Given the description of an element on the screen output the (x, y) to click on. 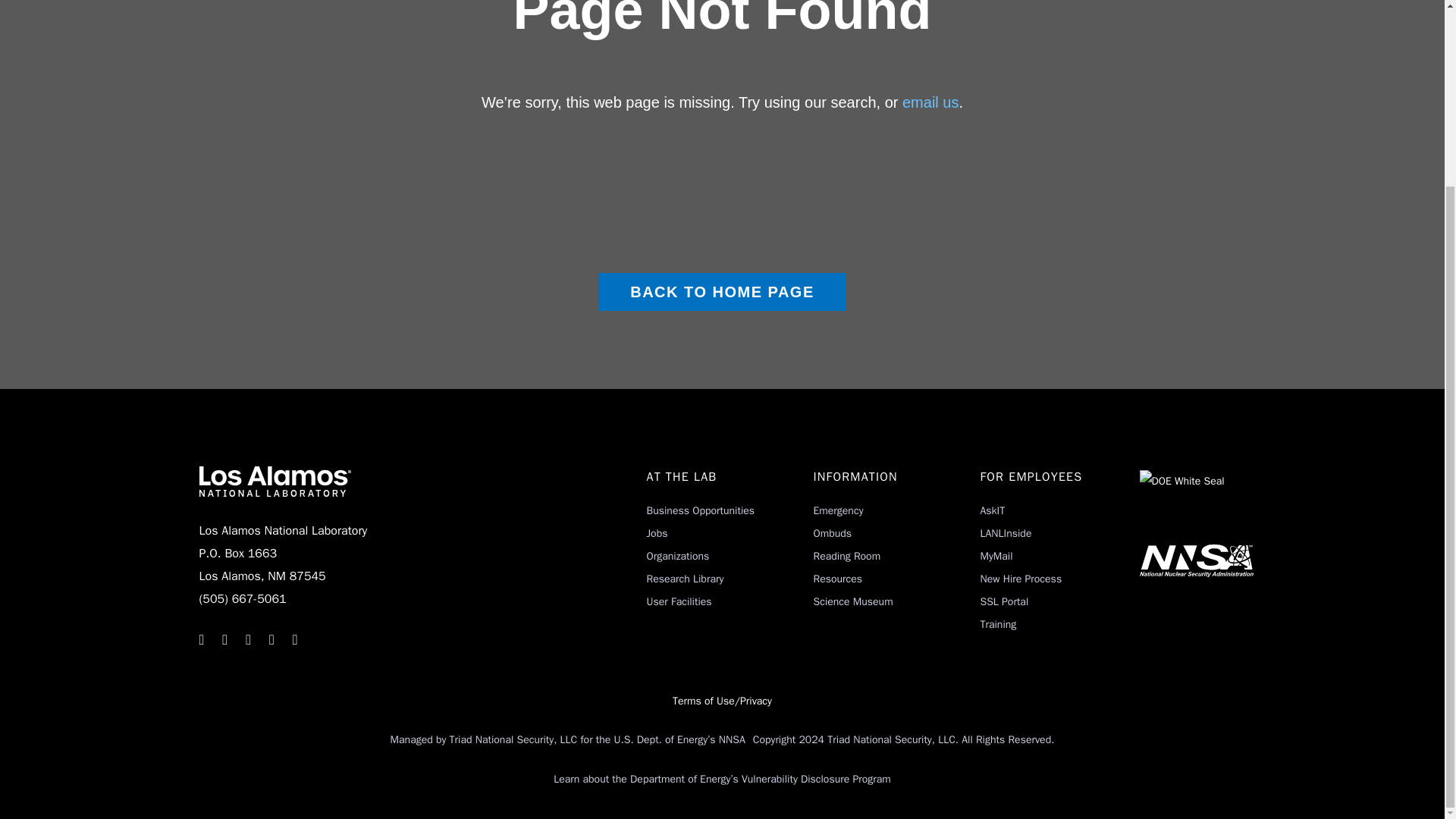
email us (930, 102)
AskIT (991, 510)
Science Museum (852, 601)
Business Opportunities (700, 510)
Organizations (677, 555)
Resources (836, 578)
Reading Room (846, 555)
Research Library (684, 578)
Jobs (656, 533)
User Facilities (678, 601)
Ombuds (831, 533)
Emergency (837, 510)
BACK TO HOME PAGE (721, 291)
